Given the description of an element on the screen output the (x, y) to click on. 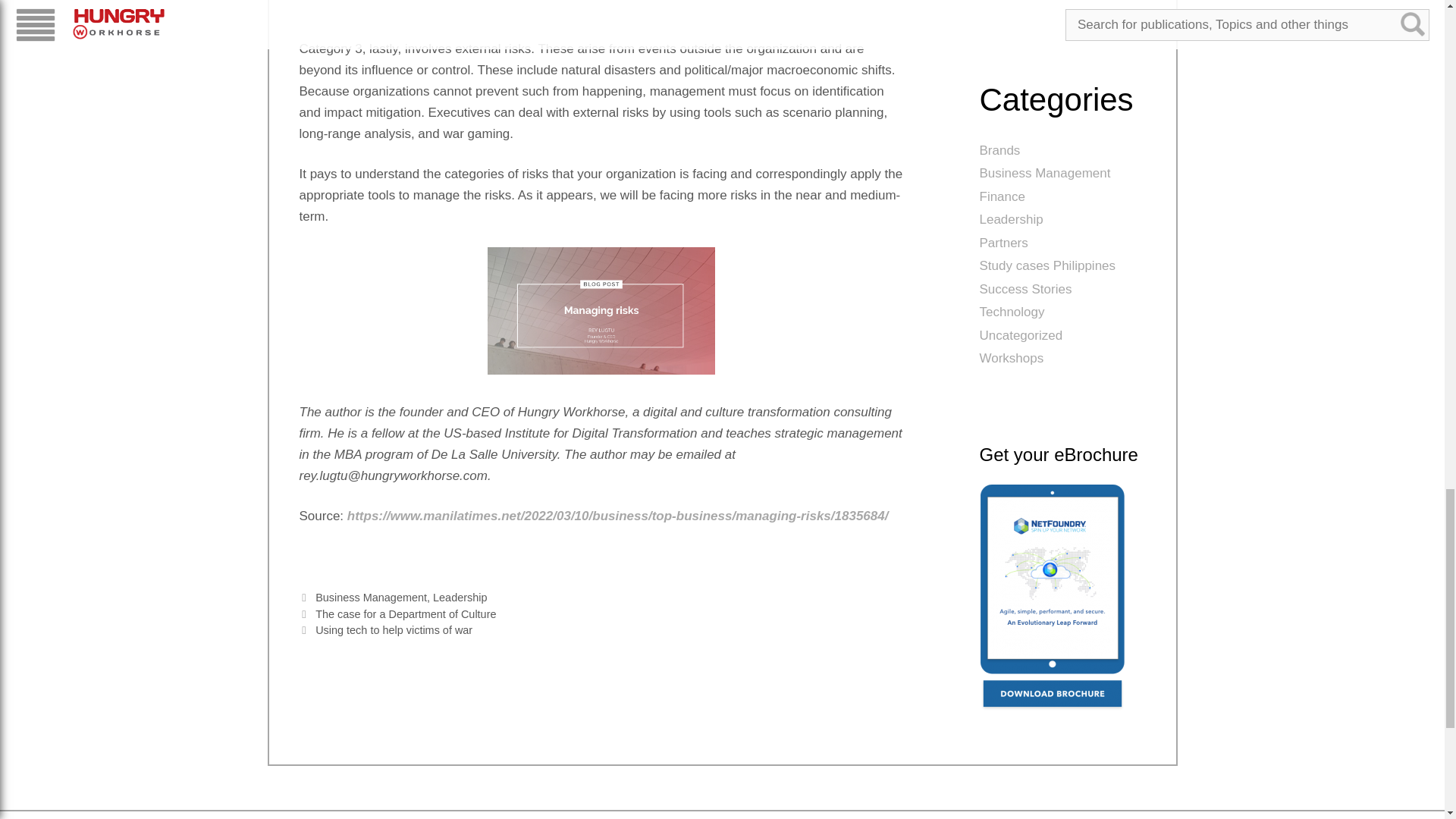
The case for a Department of Culture (405, 613)
Leadership (459, 597)
Business Management (370, 597)
Using tech to help victims of war (393, 630)
